Given the description of an element on the screen output the (x, y) to click on. 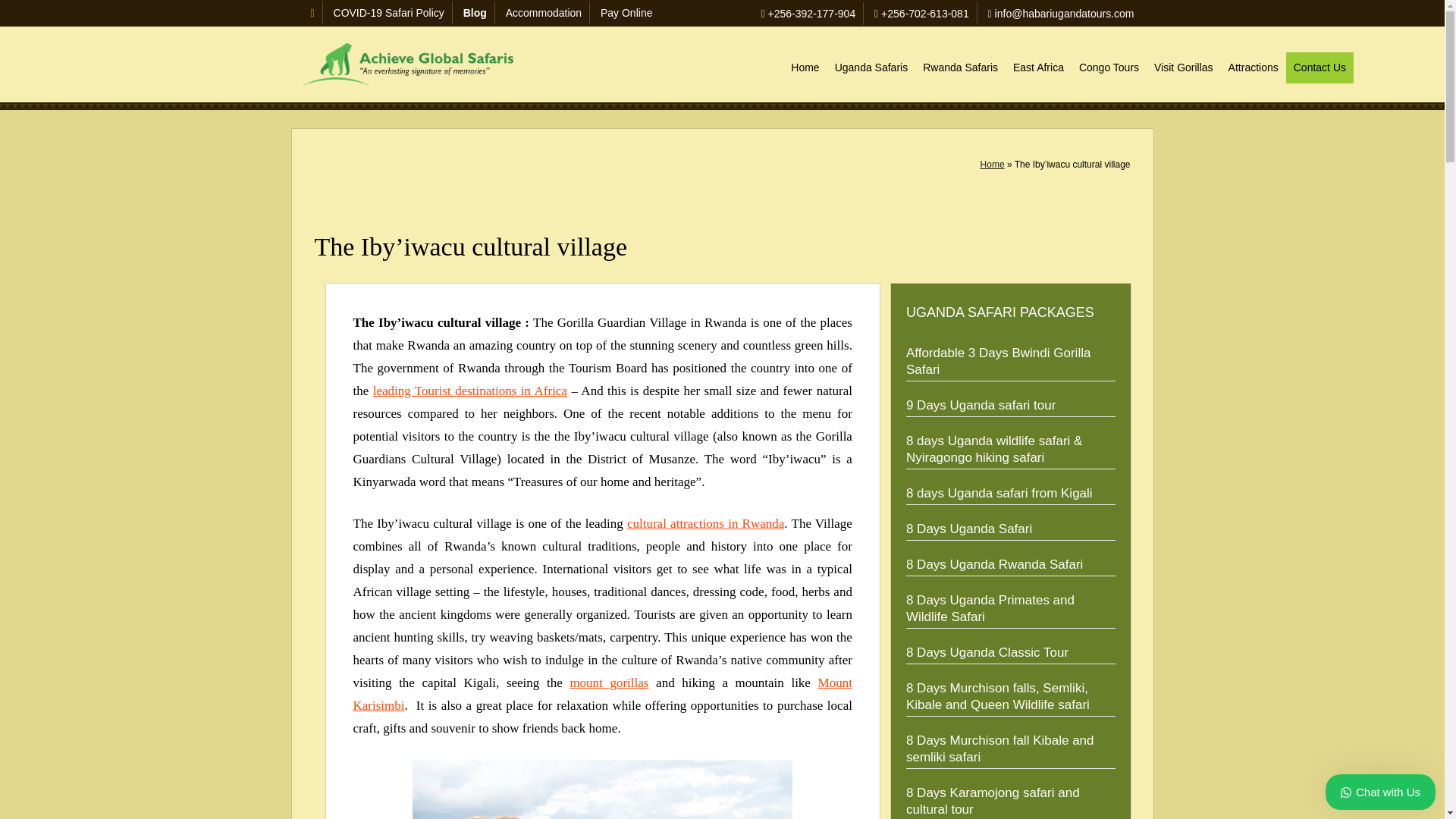
East Africa (1038, 67)
Visit Gorillas (1184, 67)
Accommodation (542, 12)
Uganda Safaris (871, 67)
Congo Tours (1109, 67)
Attractions (1253, 67)
Home (805, 67)
Pay Online (625, 12)
COVID-19 Safari Policy (388, 12)
Rwanda Safaris (960, 67)
Blog (474, 12)
